Given the description of an element on the screen output the (x, y) to click on. 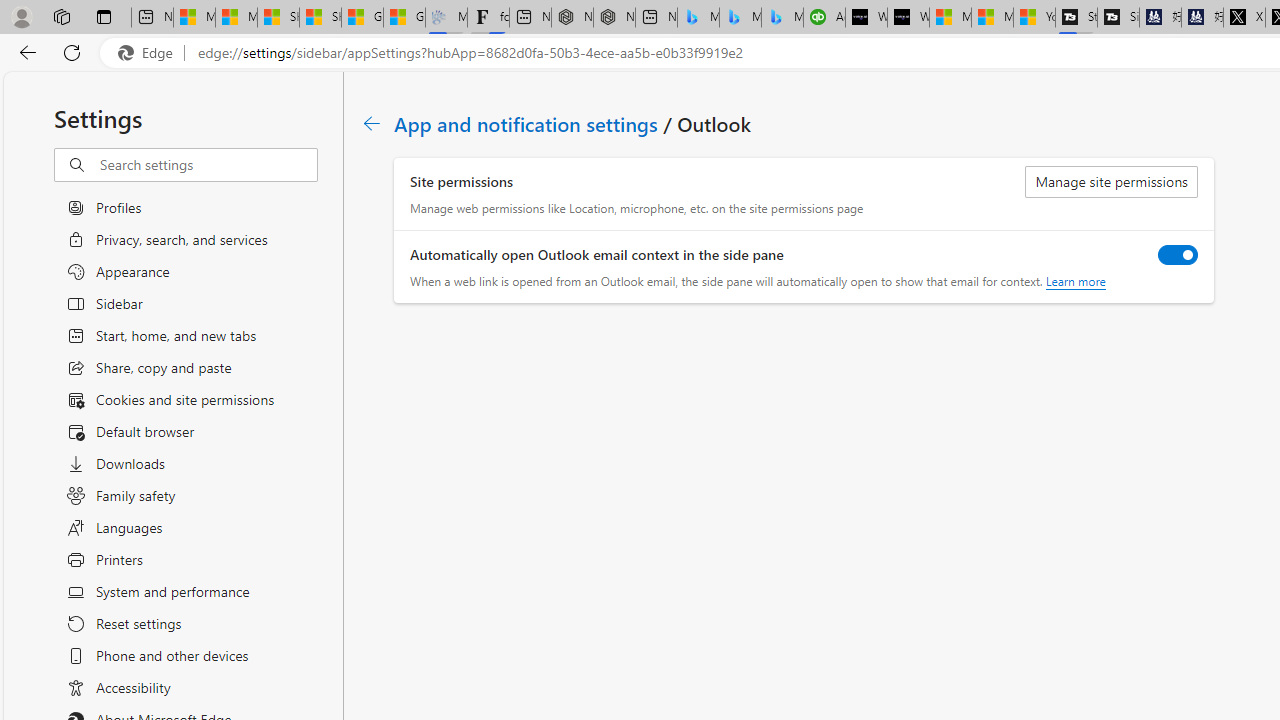
Class: c01188 (371, 123)
Go back to App and notification settings page. (372, 123)
App and notification settings (527, 123)
Gilma and Hector both pose tropical trouble for Hawaii (404, 17)
Manage site permissions (1111, 182)
Microsoft Bing Travel - Stays in Bangkok, Bangkok, Thailand (740, 17)
Edge (150, 53)
